Given the description of an element on the screen output the (x, y) to click on. 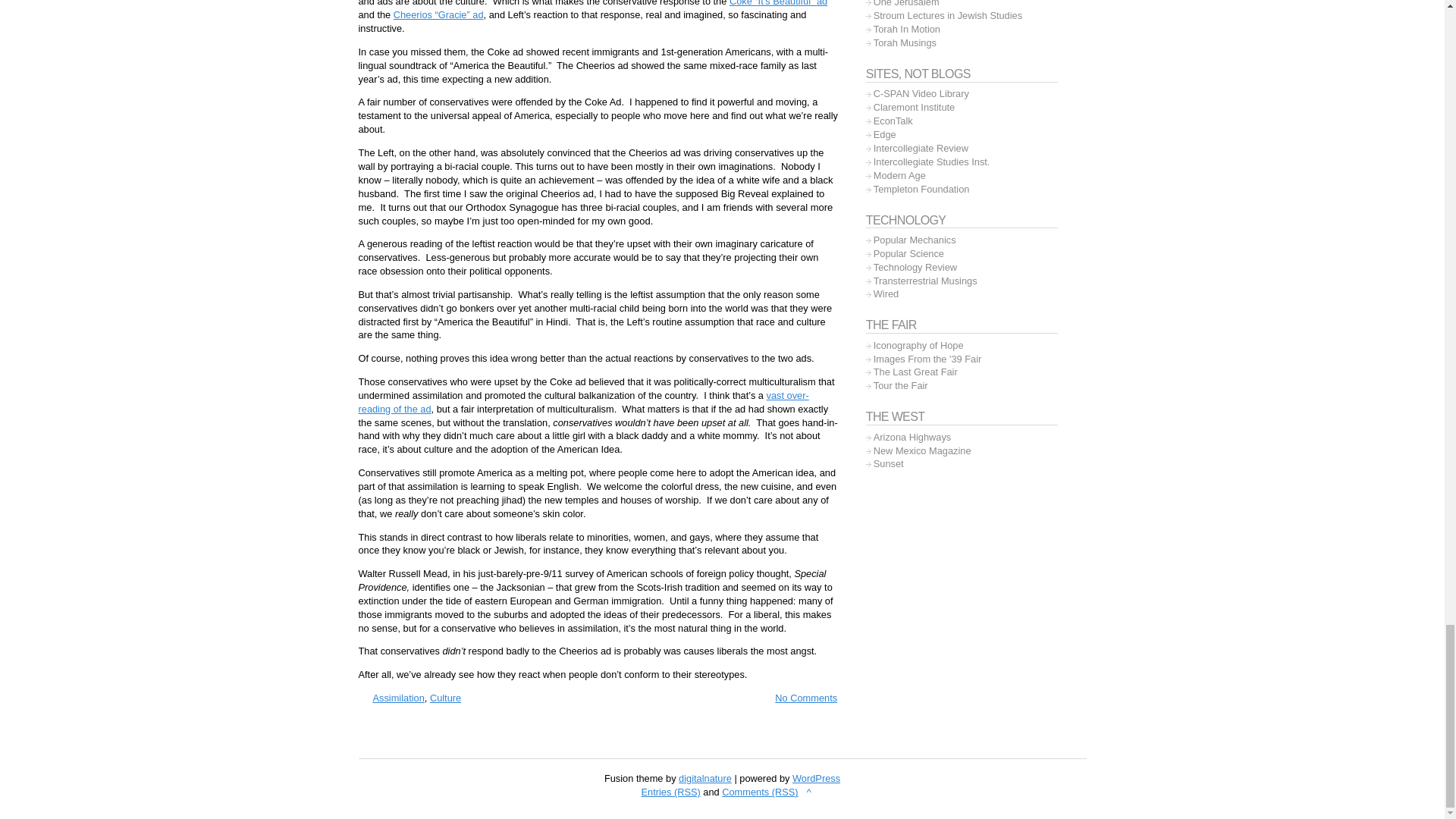
Assimilation (398, 697)
No Comments (799, 697)
Culture (445, 697)
vast over-reading of the ad (583, 401)
